Given the description of an element on the screen output the (x, y) to click on. 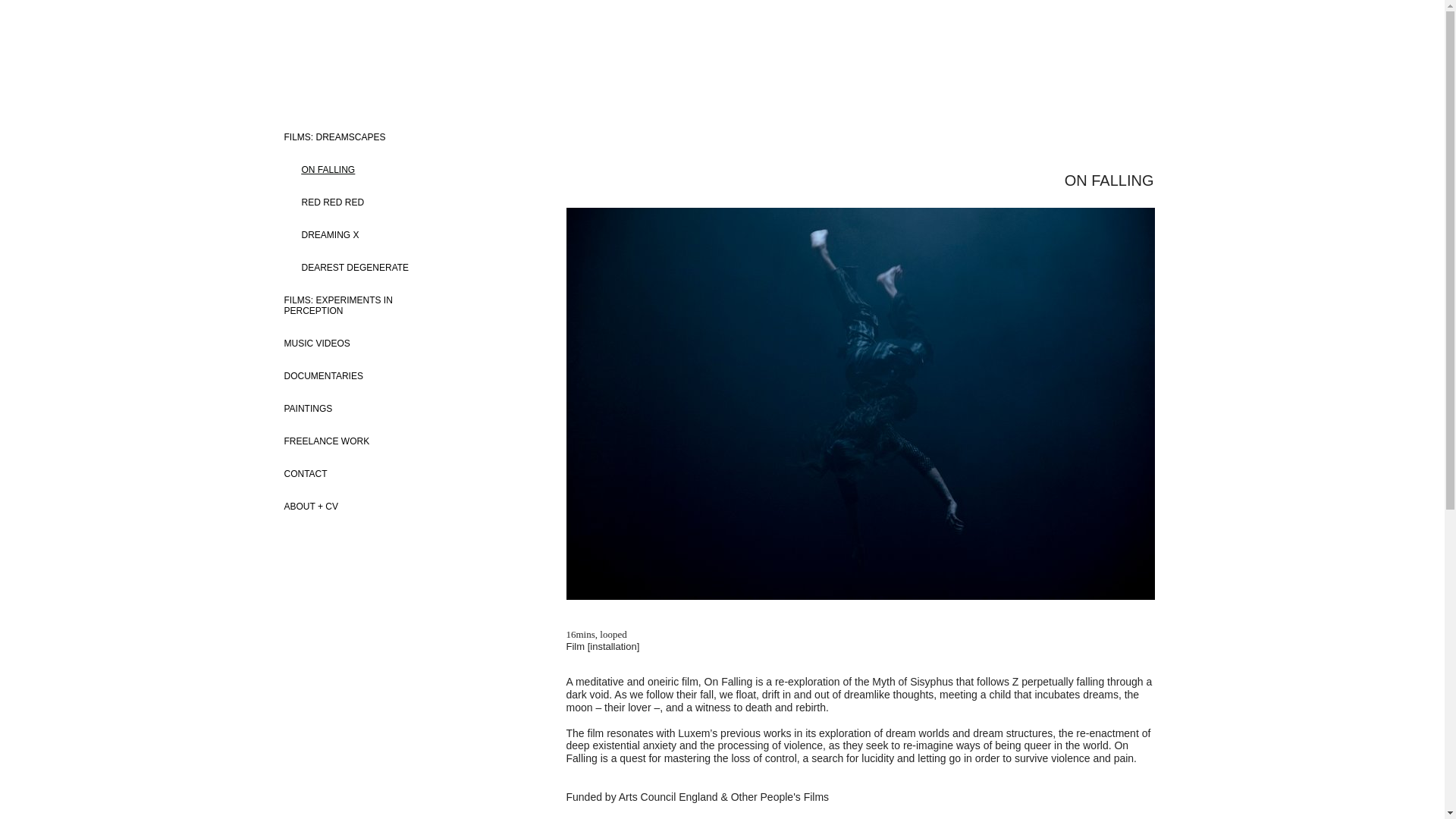
PAINTINGS (366, 408)
RED RED RED (346, 201)
DEAREST DEGENERATE (346, 266)
FILMS: EXPERIMENTS IN PERCEPTION (366, 304)
CONTACT (366, 473)
DOCUMENTARIES (366, 375)
FREELANCE WORK (366, 441)
DREAMING X (346, 234)
ON FALLING (346, 169)
MUSIC VIDEOS (366, 342)
FILMS: DREAMSCAPES (366, 136)
